Given the description of an element on the screen output the (x, y) to click on. 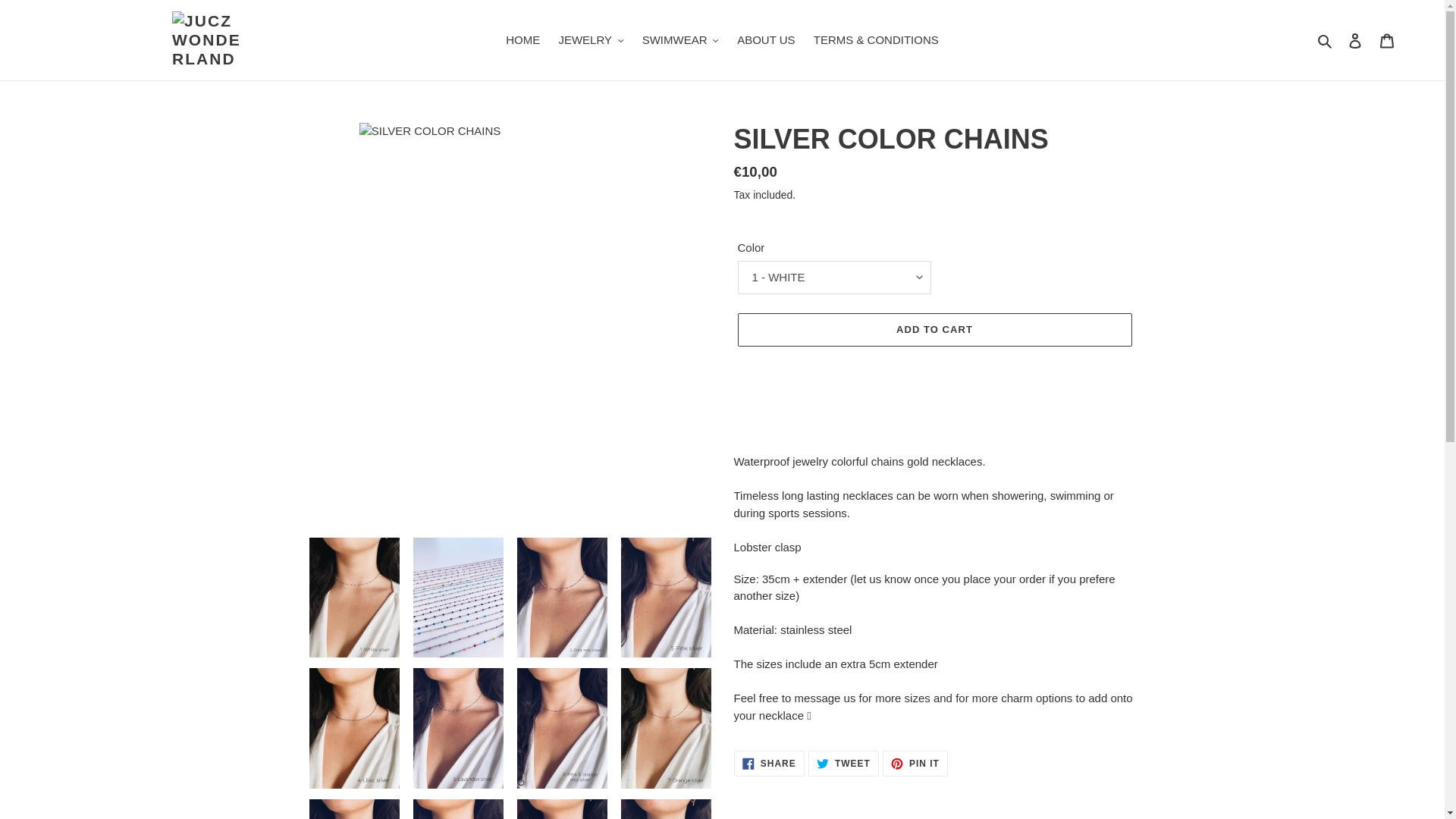
ABOUT US (765, 40)
Search (1326, 40)
Log in (1355, 40)
JEWELRY (590, 40)
SWIMWEAR (680, 40)
HOME (522, 40)
Cart (1387, 40)
